Given the description of an element on the screen output the (x, y) to click on. 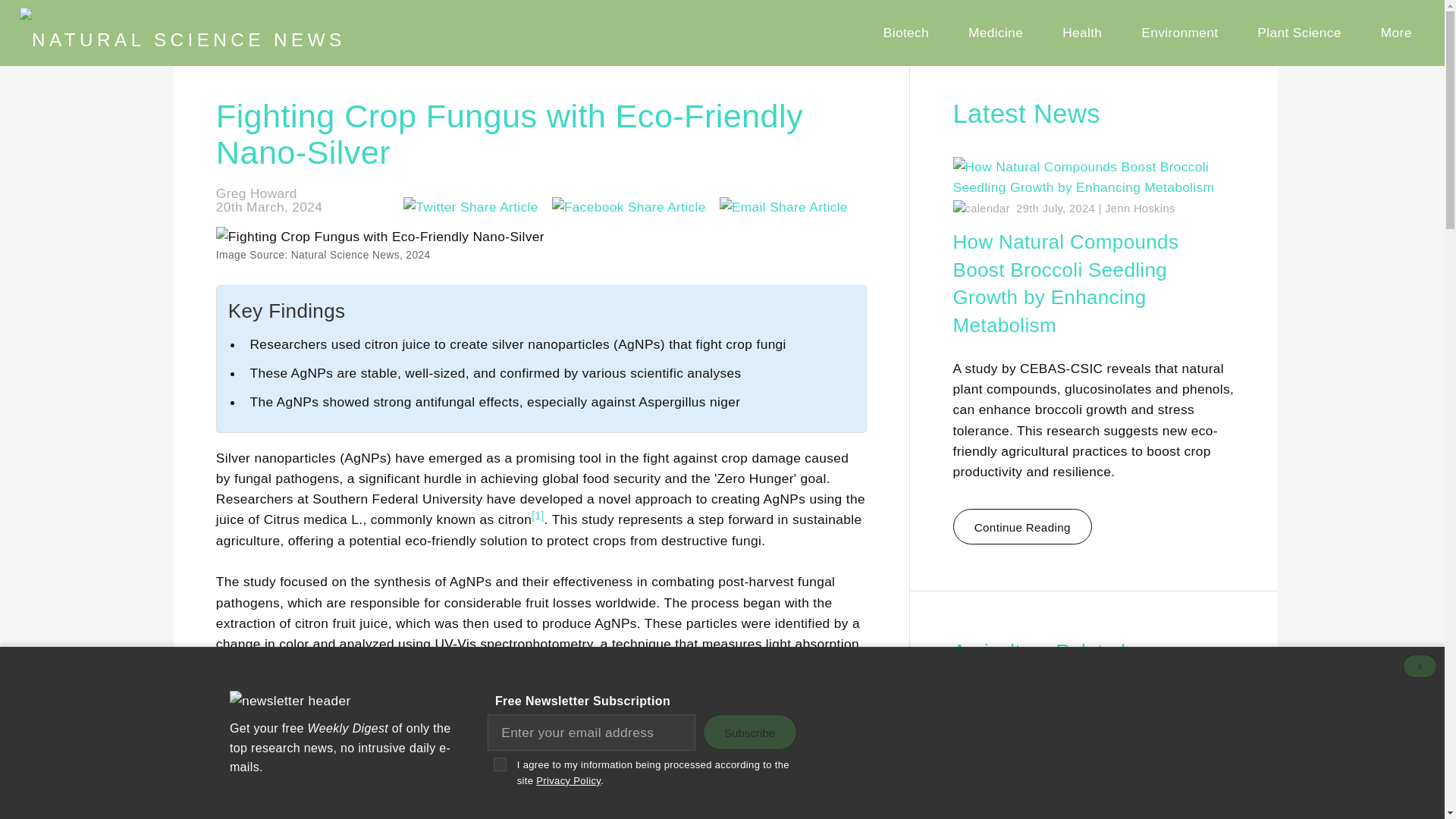
Biotech (906, 33)
Medicine (995, 33)
Health (1082, 33)
Environment (1179, 33)
Plant Science (1299, 33)
